Given the description of an element on the screen output the (x, y) to click on. 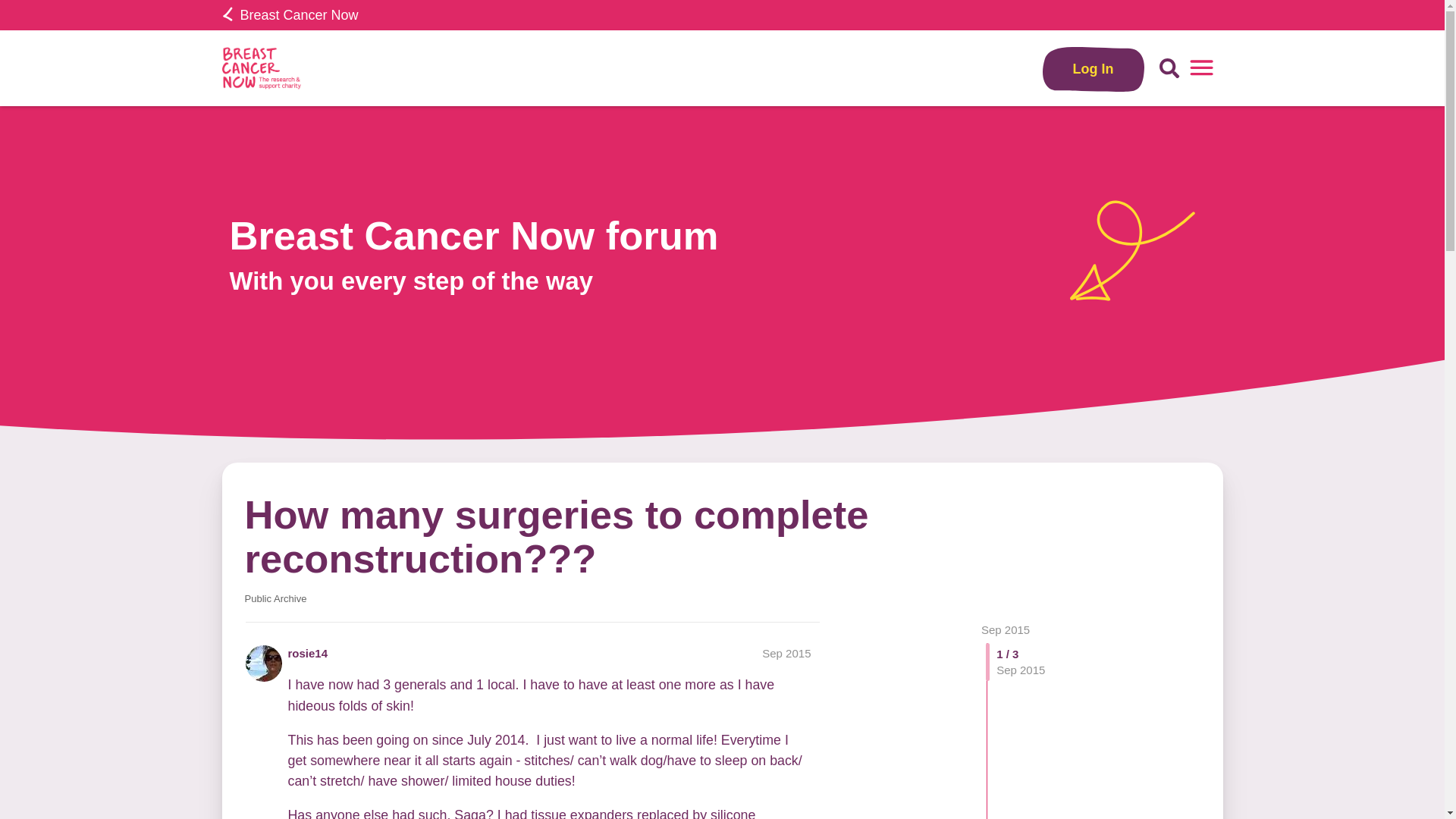
Public Archive (274, 599)
Breast Cancer Now (289, 15)
Archived posts which are available to view. (274, 599)
menu (1201, 67)
rosie14 (308, 652)
How many surgeries to complete reconstruction??? (555, 536)
Post date (785, 653)
Sep 2015 (1005, 629)
Sep 2015 (785, 653)
Sep 2015 (1005, 629)
Search (1169, 68)
Log In (1093, 68)
